Given the description of an element on the screen output the (x, y) to click on. 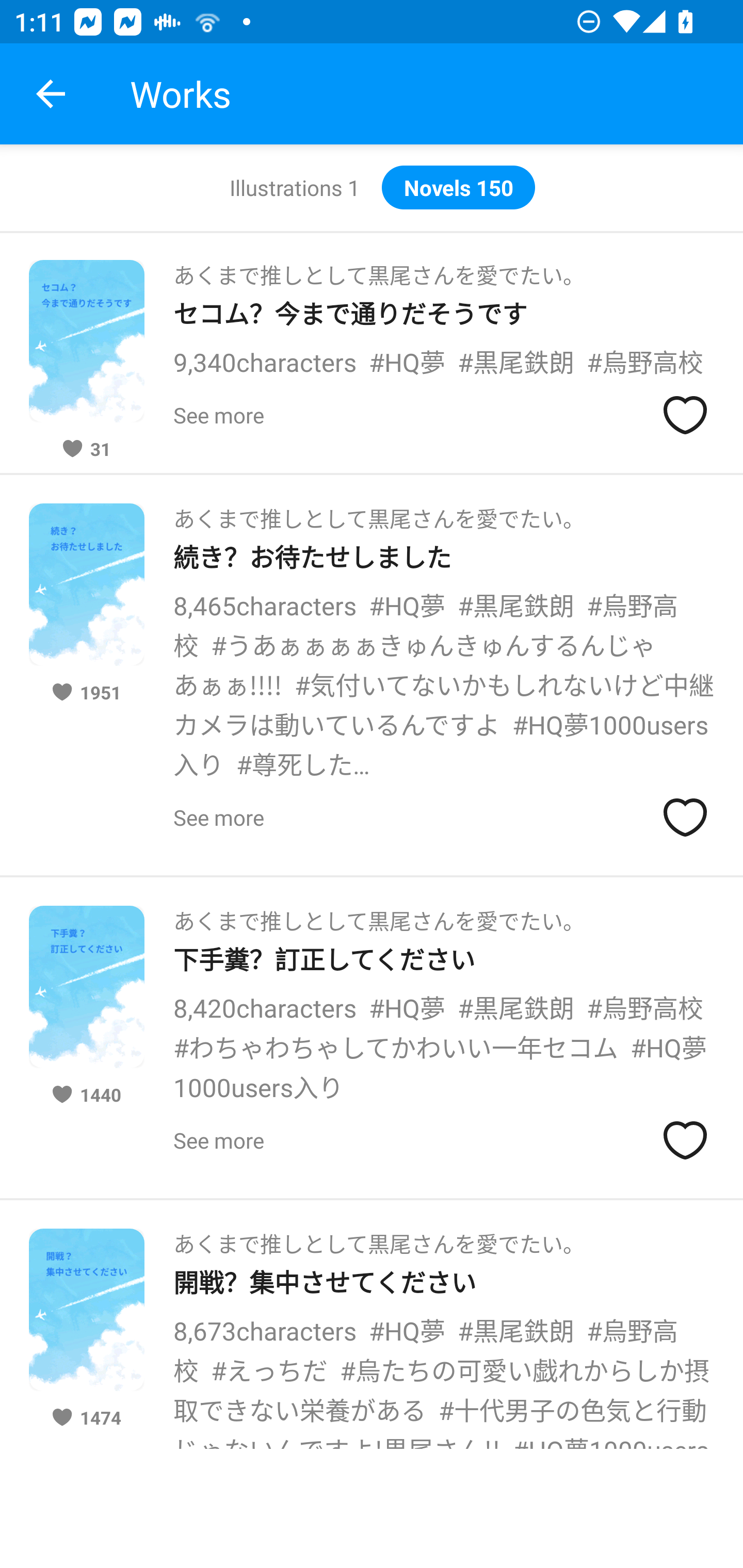
Navigate up (50, 93)
Illustrations 1 (294, 187)
Novels 150 (457, 187)
あくまで推しとして黒尾さんを愛でたい。 (378, 269)
あくまで推しとして黒尾さんを愛でたい。 (378, 512)
あくまで推しとして黒尾さんを愛でたい。 (378, 914)
あくまで推しとして黒尾さんを愛でたい。 (378, 1237)
